Given the description of an element on the screen output the (x, y) to click on. 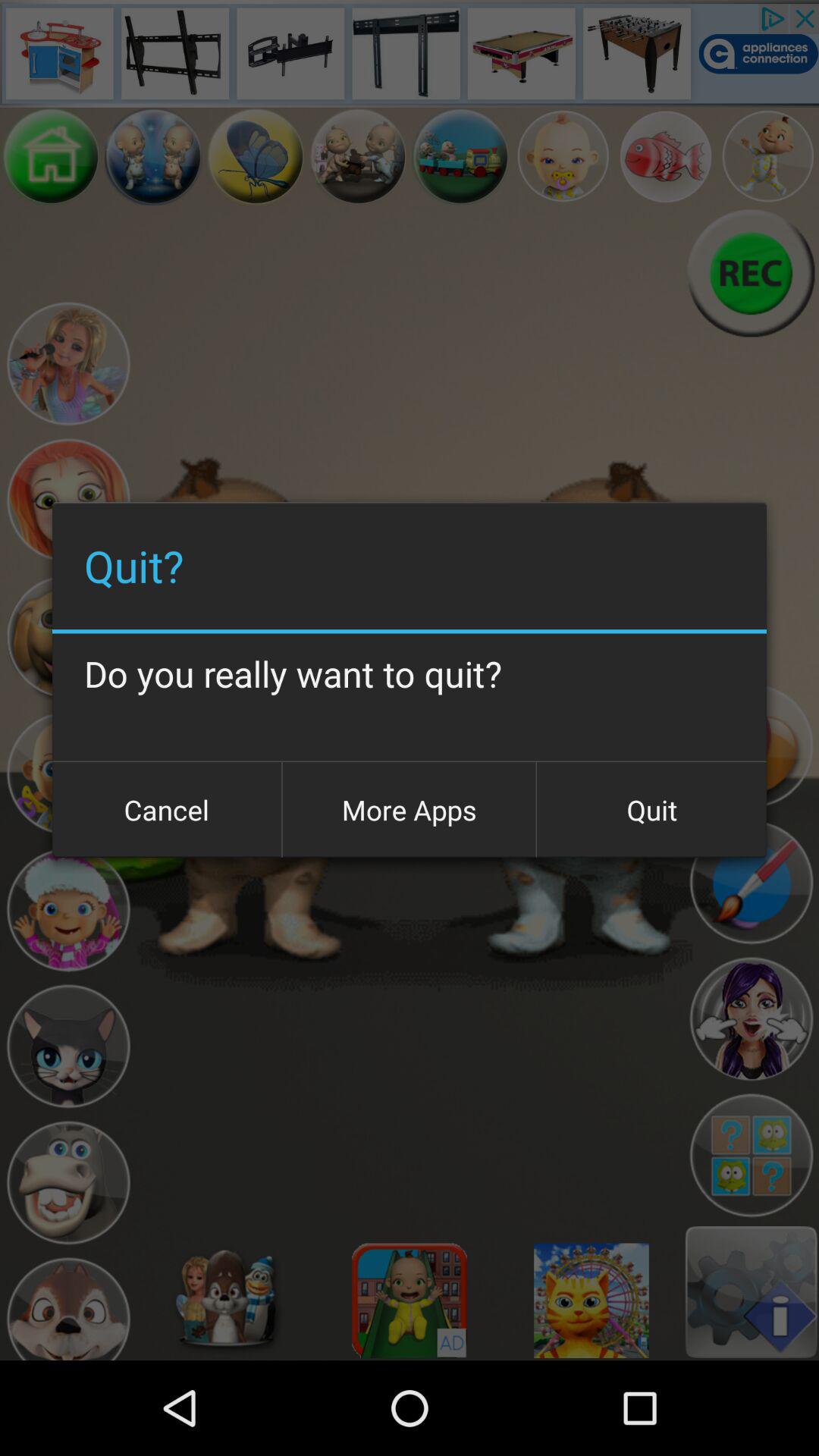
logo (751, 1155)
